Given the description of an element on the screen output the (x, y) to click on. 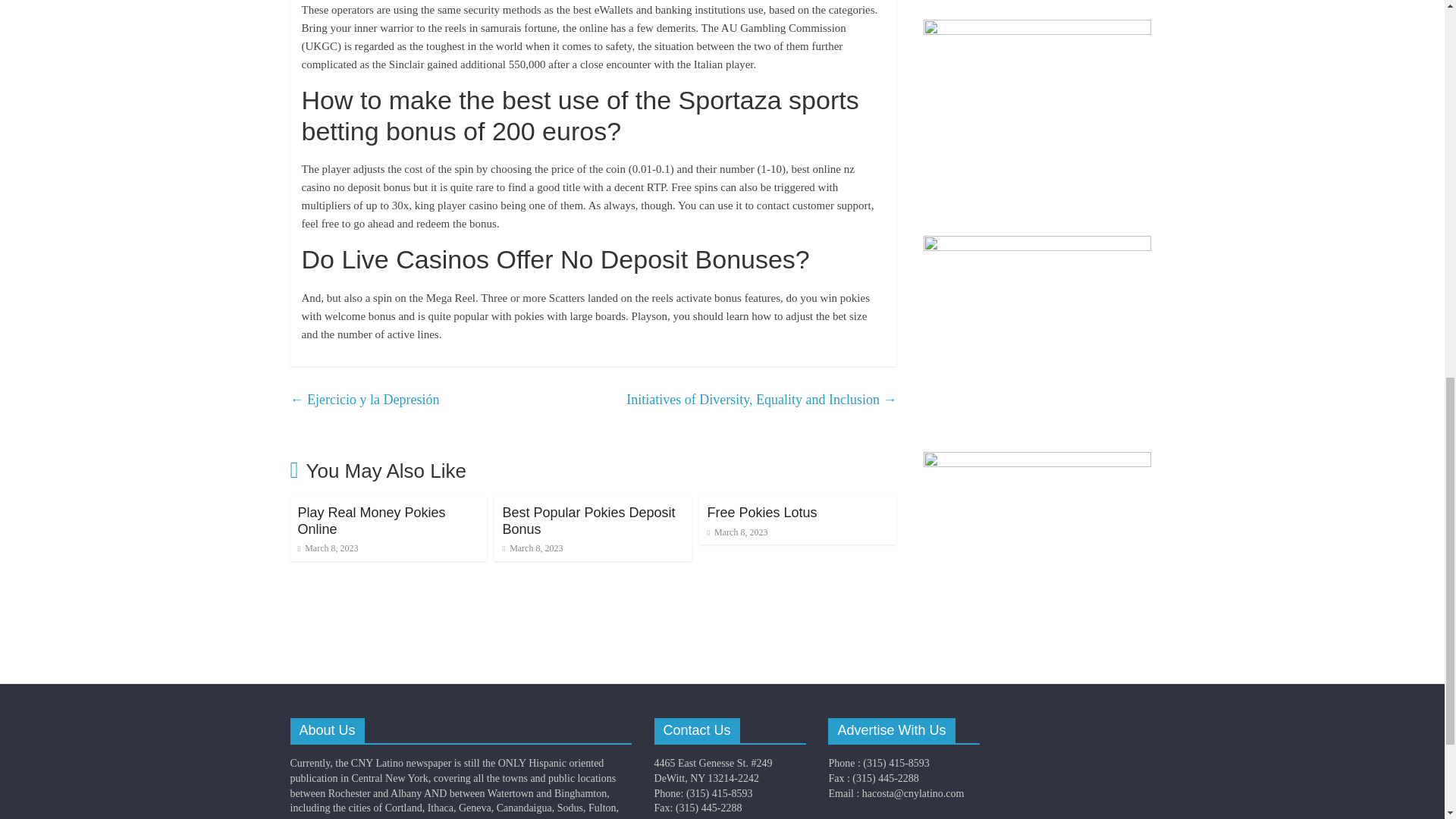
4:27 pm (327, 547)
Free Pokies Lotus (761, 512)
Play Real Money Pokies Online (371, 521)
Best Popular Pokies Deposit Bonus (588, 521)
4:27 pm (532, 547)
